Given the description of an element on the screen output the (x, y) to click on. 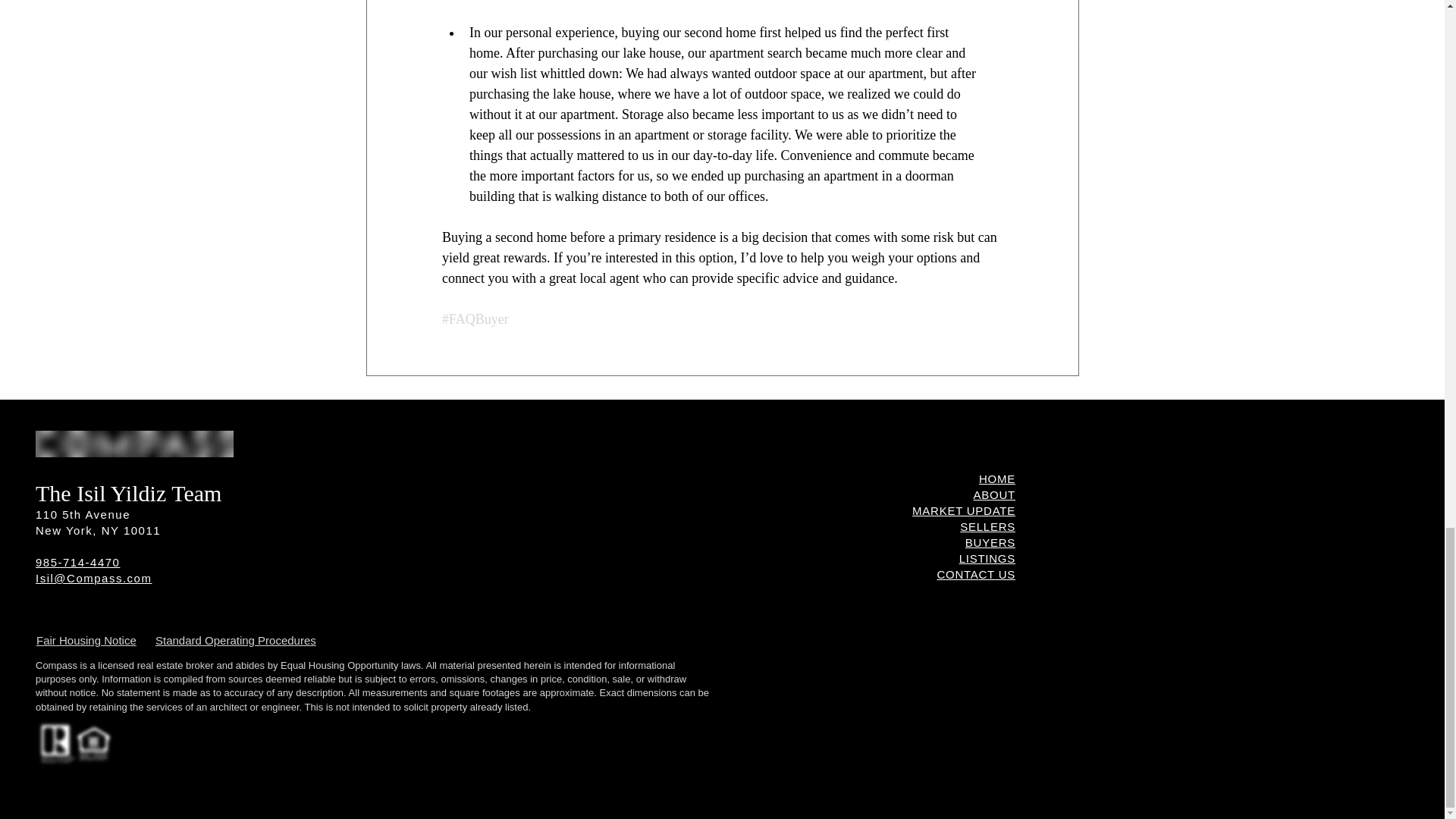
HOME (996, 478)
BUYERS (989, 542)
CONTACT US (975, 574)
LISTINGS (986, 558)
ABOUT (994, 494)
MARKET UPDATE (963, 510)
Fair Housing Notice (86, 640)
Standard Operating Procedures (235, 640)
985-714-4470 (76, 562)
SELLERS (986, 526)
